Given the description of an element on the screen output the (x, y) to click on. 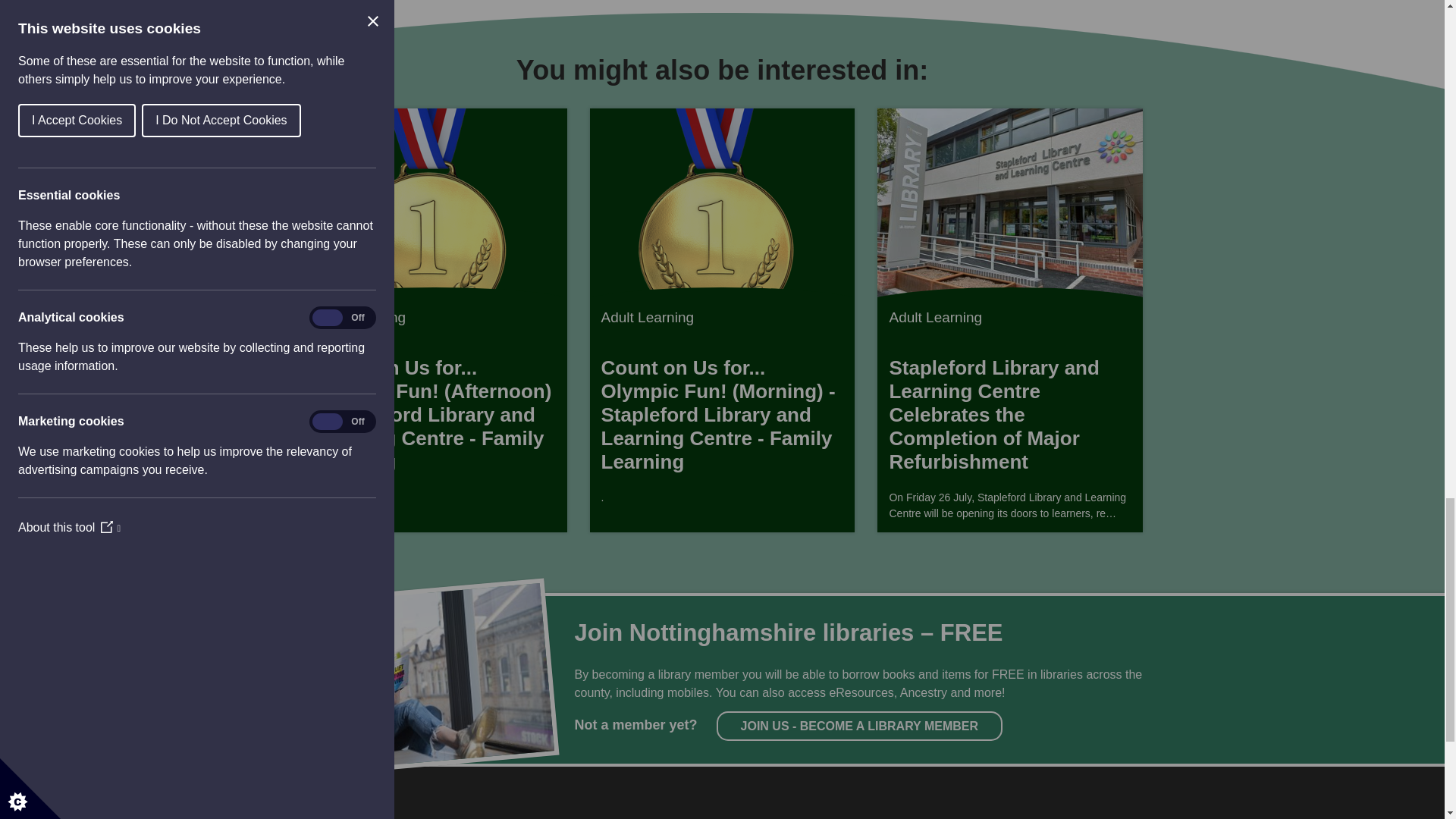
Go to home page (405, 811)
